Given the description of an element on the screen output the (x, y) to click on. 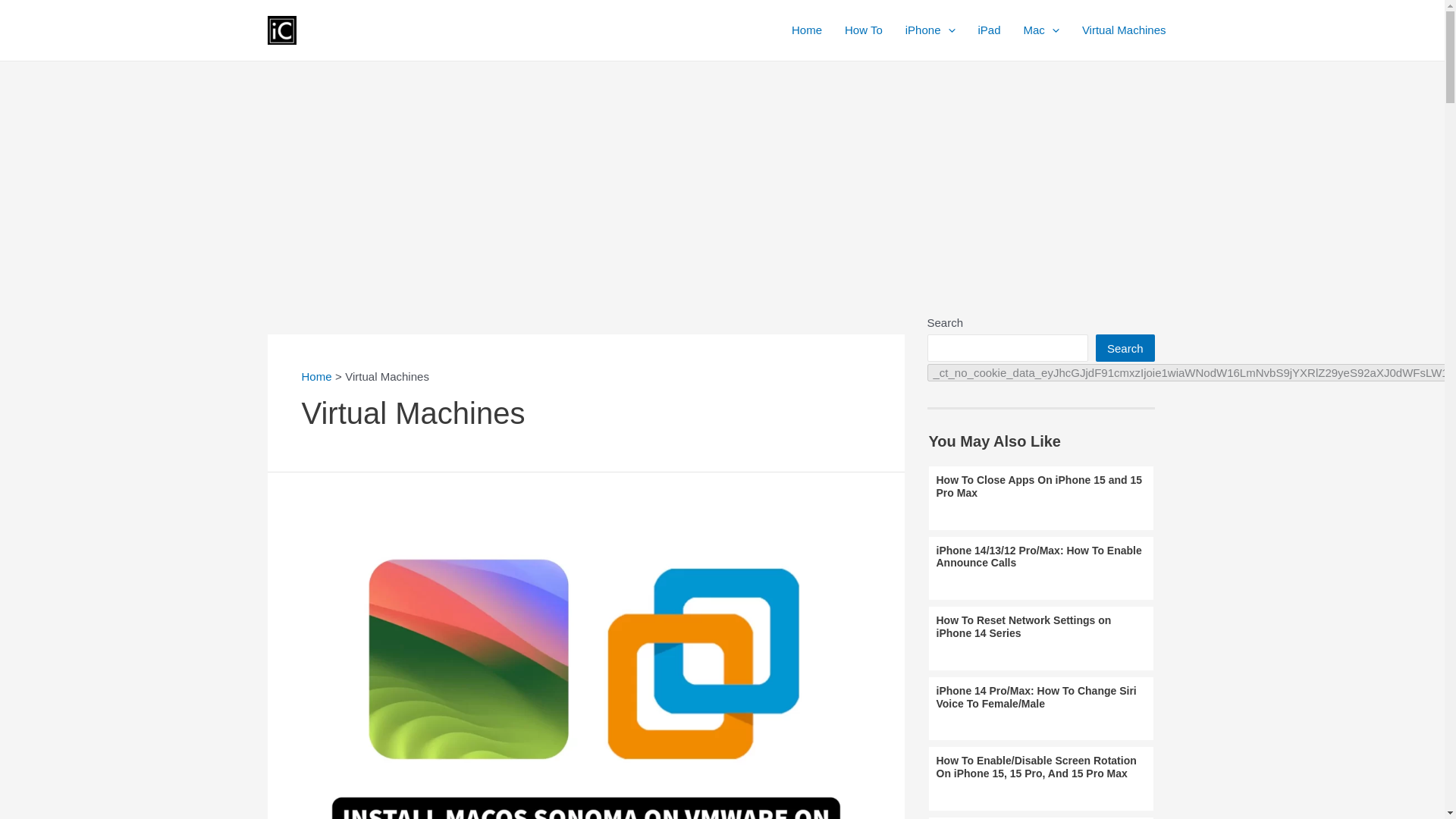
iPhone (929, 30)
Virtual Machines (1123, 30)
How To (862, 30)
Home (316, 376)
Mac (1040, 30)
